Given the description of an element on the screen output the (x, y) to click on. 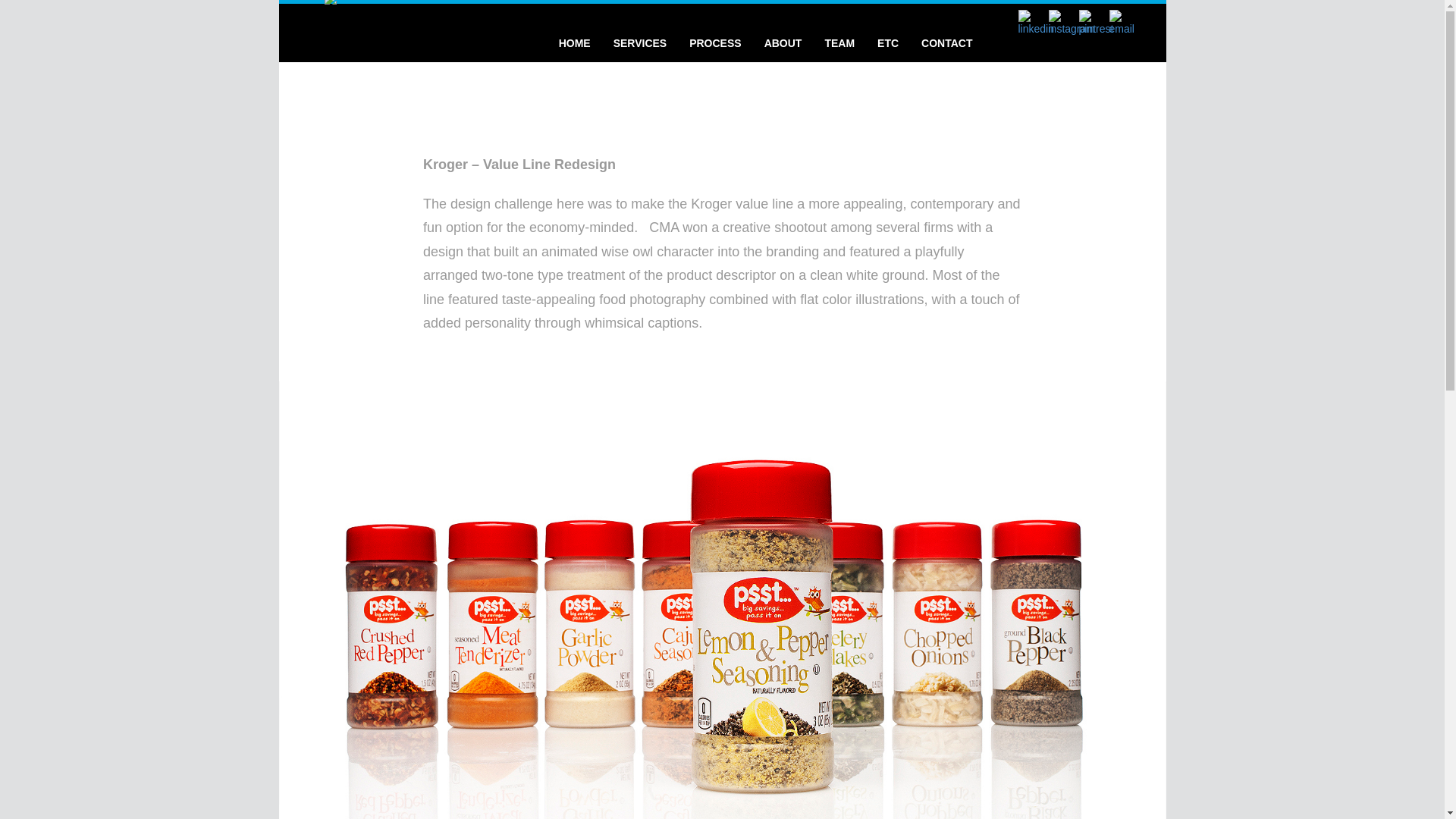
CONTACT (947, 40)
HOME (574, 40)
PROCESS (715, 40)
ABOUT (782, 40)
ETC (888, 40)
SERVICES (640, 40)
TEAM (839, 40)
